Given the description of an element on the screen output the (x, y) to click on. 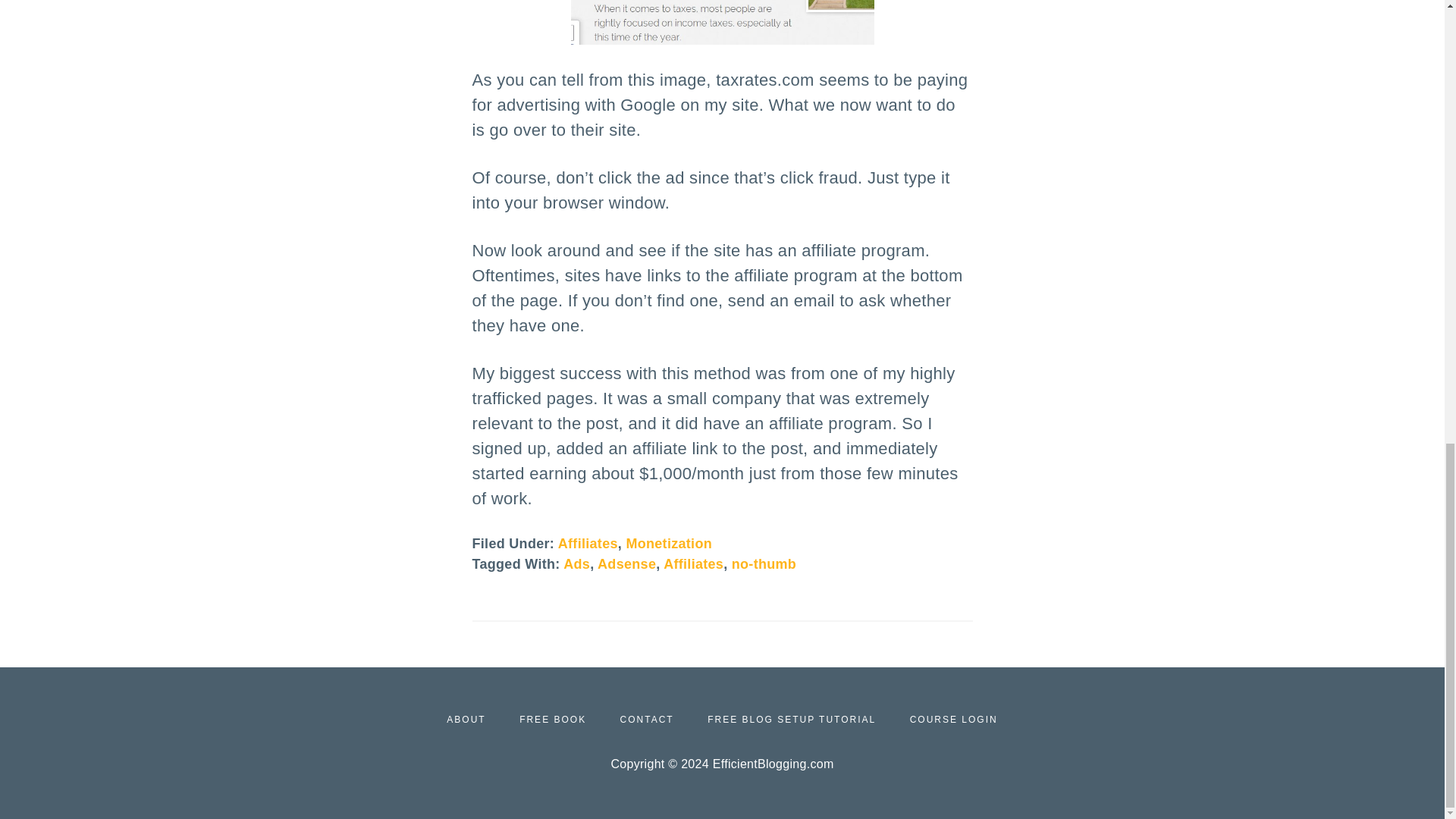
Adsense (626, 563)
Affiliates (693, 563)
ABOUT (465, 718)
Ads (576, 563)
COURSE LOGIN (953, 718)
no-thumb (764, 563)
FREE BOOK (552, 718)
Affiliates (587, 542)
CONTACT (647, 718)
FREE BLOG SETUP TUTORIAL (791, 718)
Monetization (668, 542)
